Given the description of an element on the screen output the (x, y) to click on. 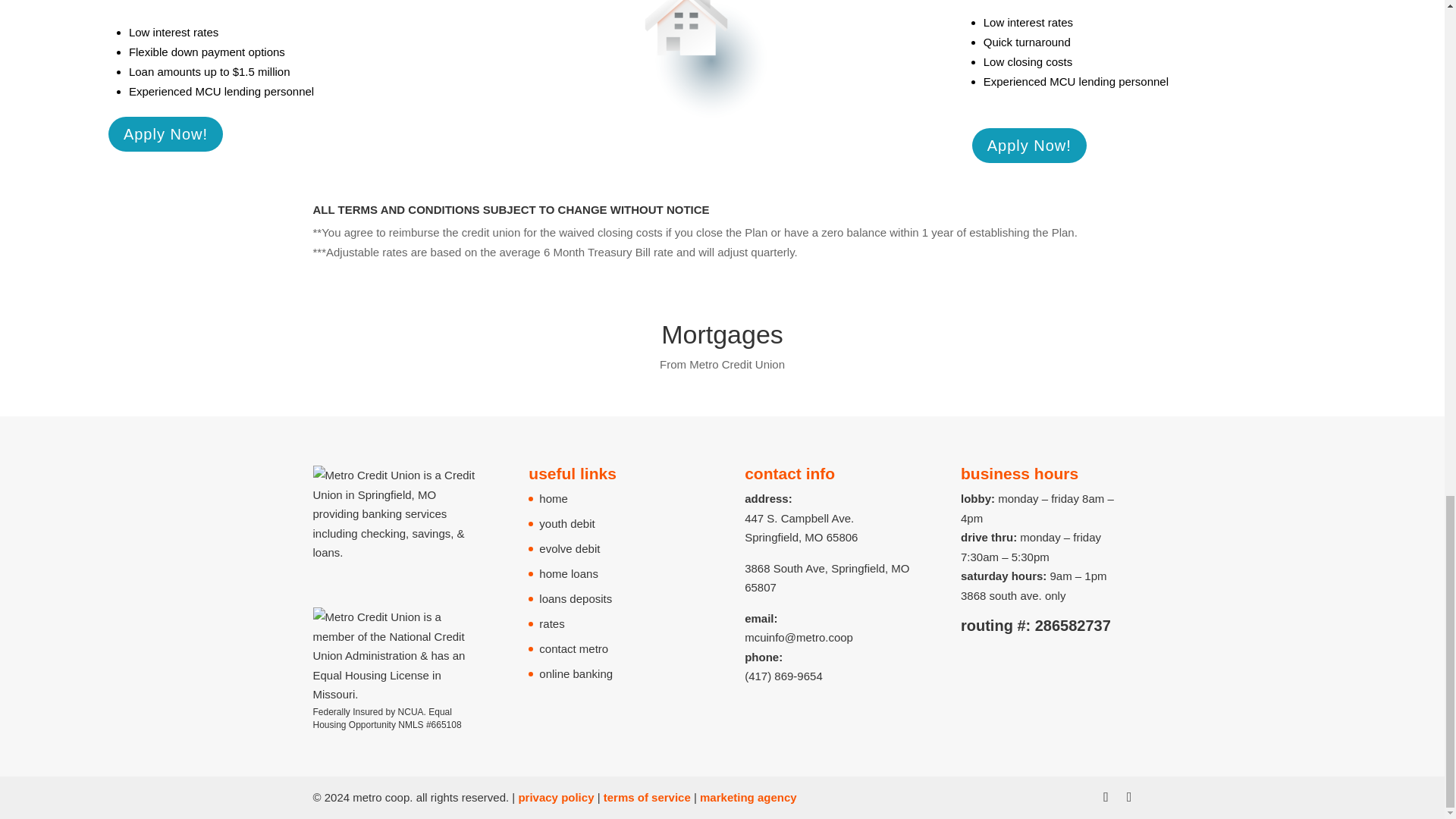
rates (1060, 21)
6 Month Treasury Bill (596, 251)
youth debit (566, 522)
Apply Now! (1029, 144)
interest rates (185, 31)
evolve debit (568, 548)
home (552, 498)
Apply Now! (164, 134)
Equal Housing Opportunity (382, 718)
Metro Credit Union (736, 364)
